Given the description of an element on the screen output the (x, y) to click on. 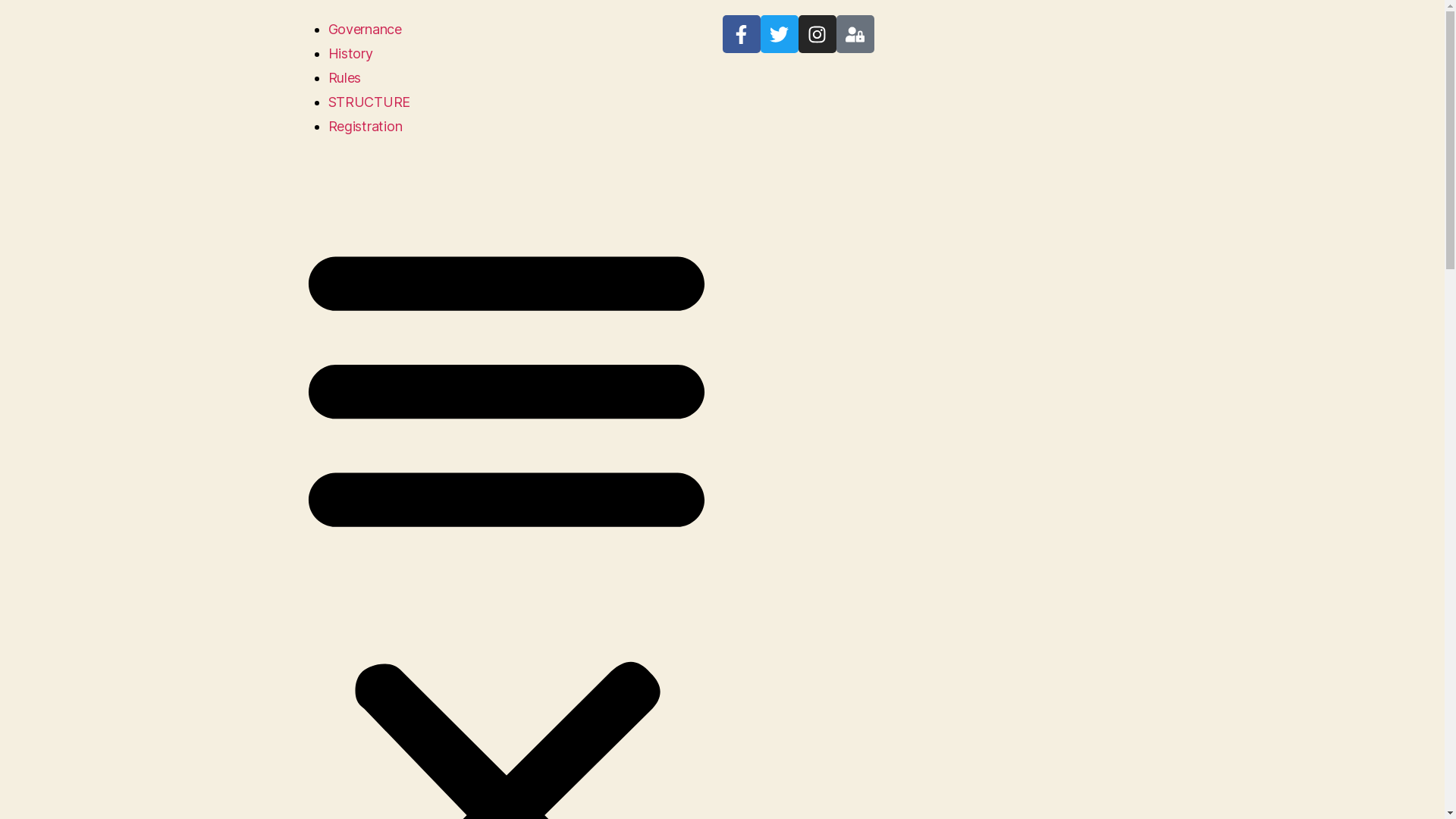
History Element type: text (349, 53)
Rules Element type: text (343, 77)
STRUCTURE Element type: text (368, 101)
Governance Element type: text (364, 29)
Registration Element type: text (364, 126)
